Given the description of an element on the screen output the (x, y) to click on. 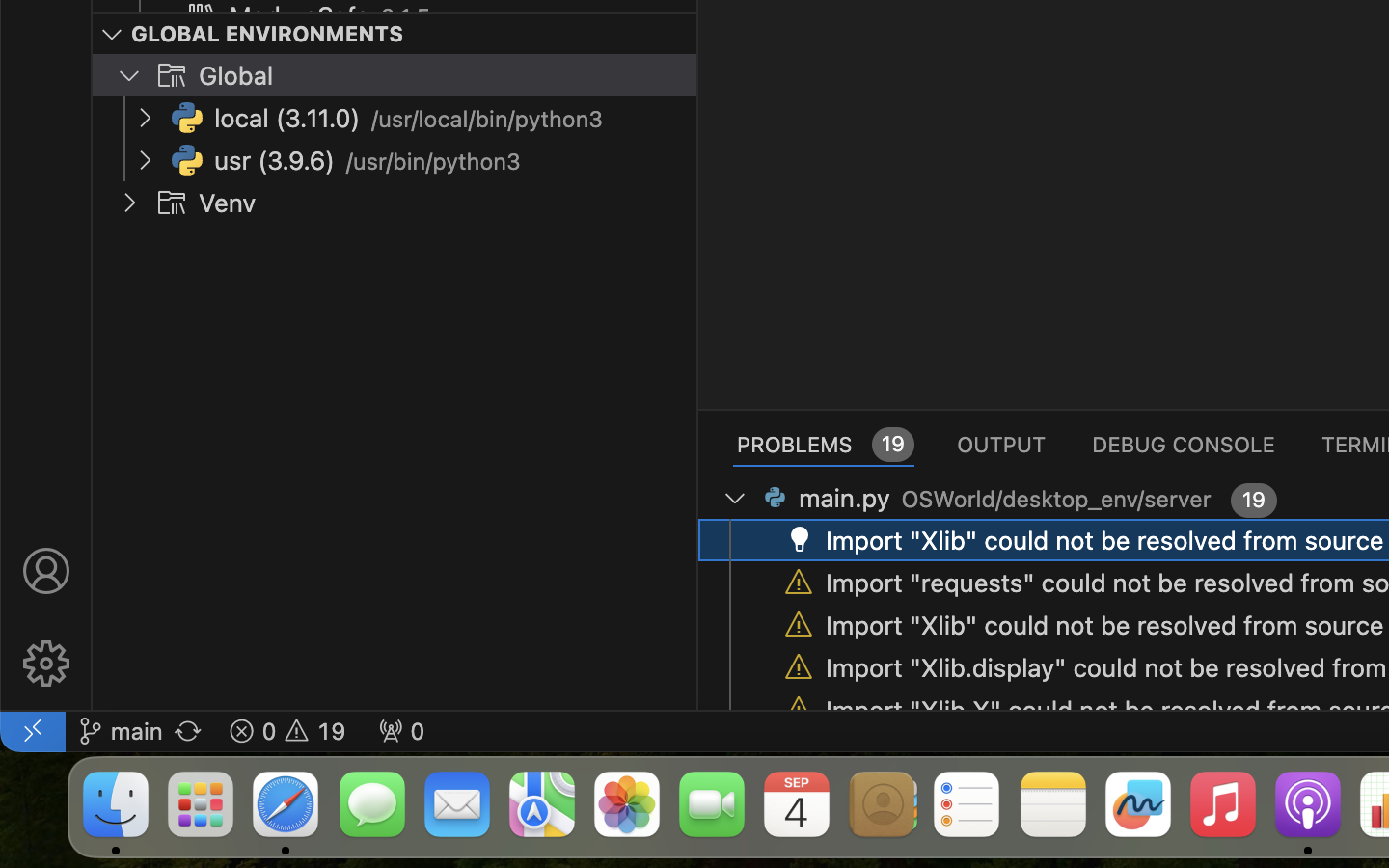
 0 Element type: AXButton (400, 730)
0 OUTPUT Element type: AXRadioButton (1001, 443)
OSWorld/desktop_env/server main.py  Element type: AXGroup (983, 497)
/usr/local/bin/python3 Element type: AXStaticText (487, 119)
 Element type: AXStaticText (171, 74)
